Given the description of an element on the screen output the (x, y) to click on. 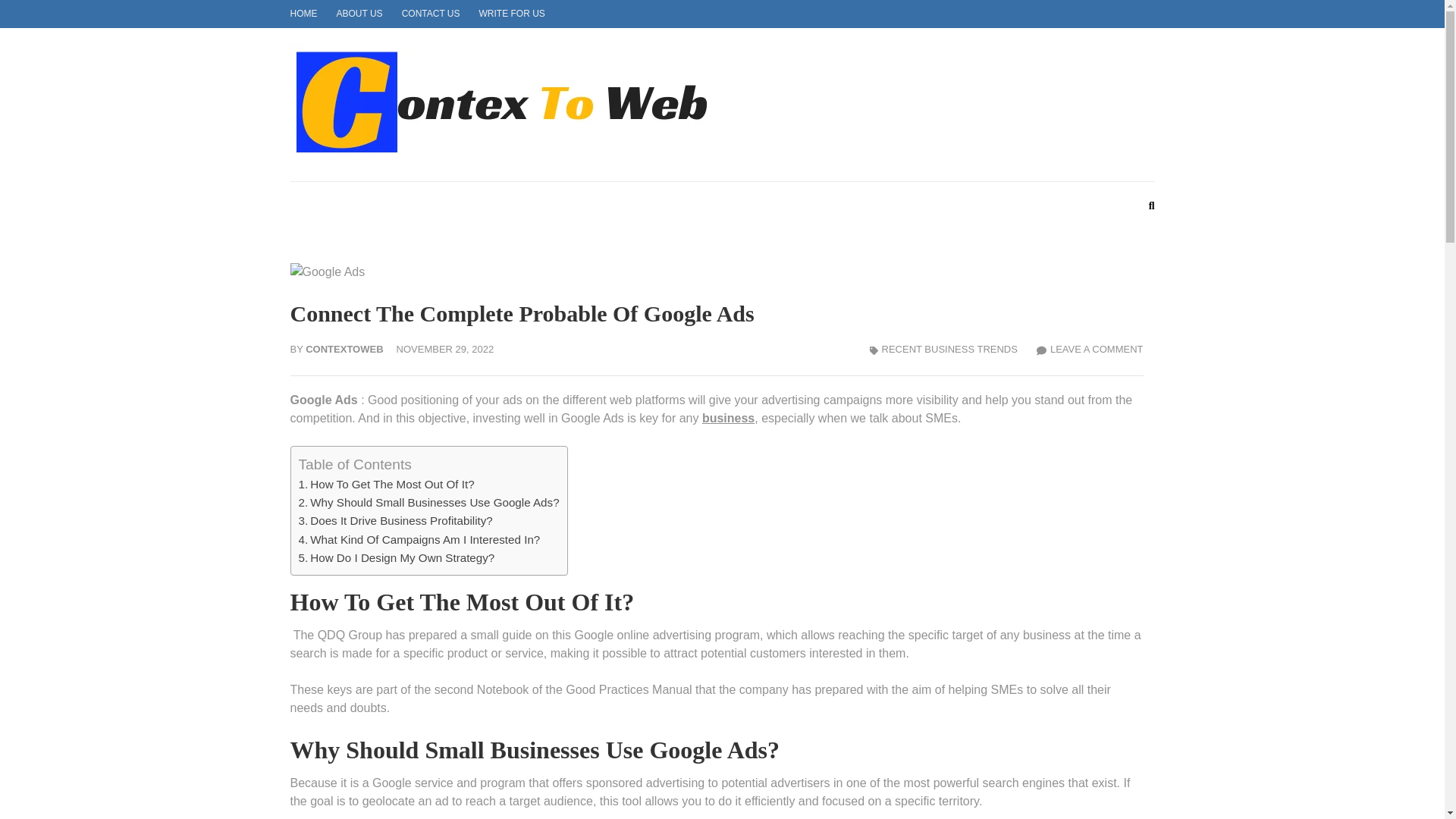
ABOUT US (359, 13)
CONTACT US (430, 13)
What Kind Of Campaigns Am I Interested In? (419, 539)
Why Should Small Businesses Use Google Ads? (428, 502)
Why Should Small Businesses Use Google Ads? (428, 502)
WRITE FOR US (511, 13)
HOME (303, 13)
How Do I Design My Own Strategy? (396, 557)
LEAVE A COMMENT (1089, 348)
Does It Drive Business Profitability? (395, 520)
How To Get The Most Out Of It? (386, 483)
What Kind Of Campaigns Am I Interested In? (419, 539)
business (727, 418)
CONTEXTOWEB (836, 120)
RECENT BUSINESS TRENDS (949, 348)
